Given the description of an element on the screen output the (x, y) to click on. 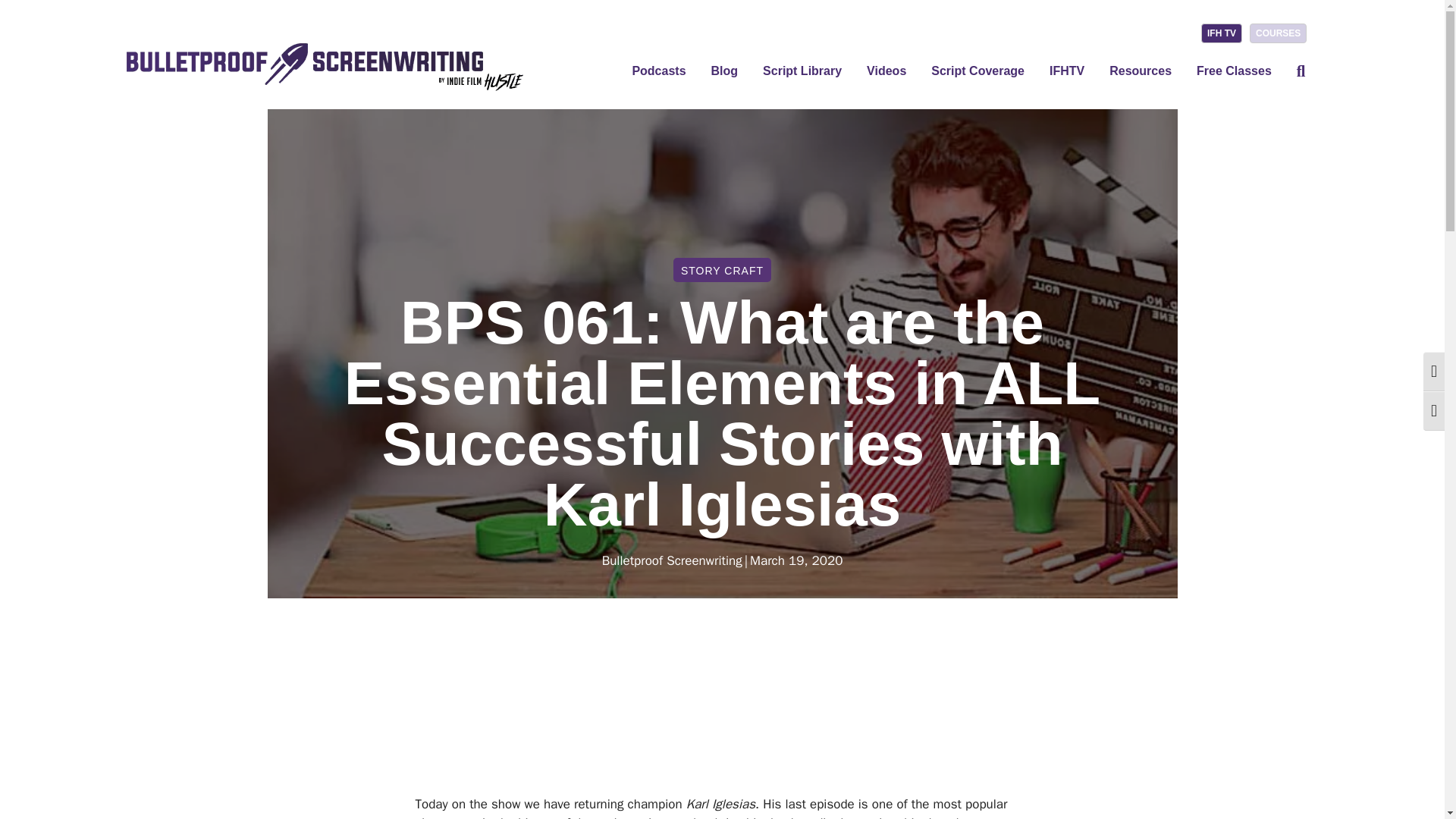
Script Coverage (977, 72)
STORY CRAFT (721, 269)
IFH TV (1221, 33)
Resources (1140, 72)
Free Classes (1234, 72)
Videos (886, 72)
COURSES (1277, 33)
Bulletproof Screenwriting (672, 560)
Podcasts (658, 72)
LOGIN: (1167, 37)
IFHTV (1066, 72)
Script Library (802, 72)
Blog (724, 72)
